Given the description of an element on the screen output the (x, y) to click on. 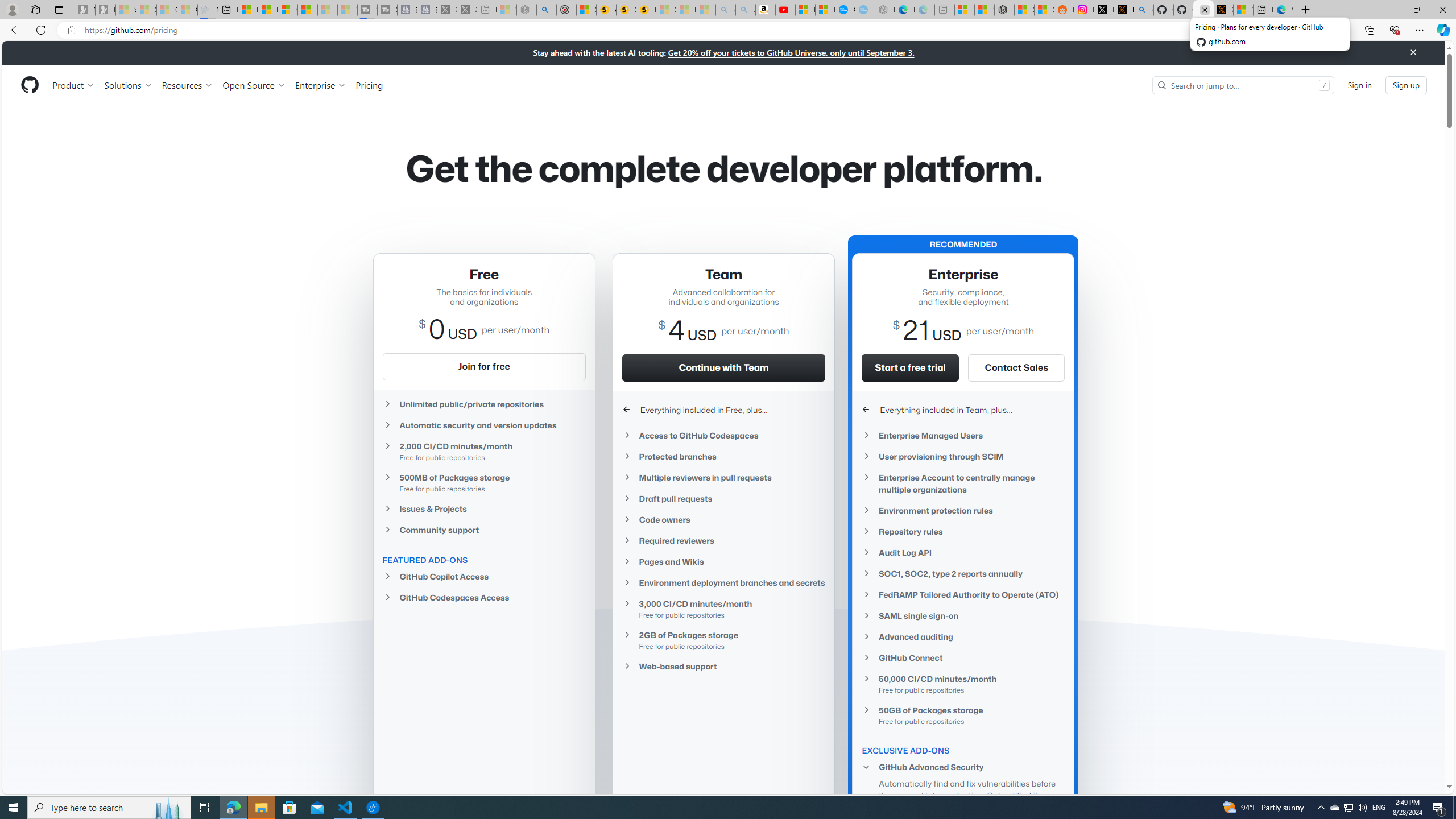
GitHub Codespaces Access (483, 597)
Start a free trial (910, 367)
2GB of Packages storage Free for public repositories (723, 640)
Welcome to Microsoft Edge (1282, 9)
Amazon Echo Dot PNG - Search Images - Sleeping (745, 9)
